Given the description of an element on the screen output the (x, y) to click on. 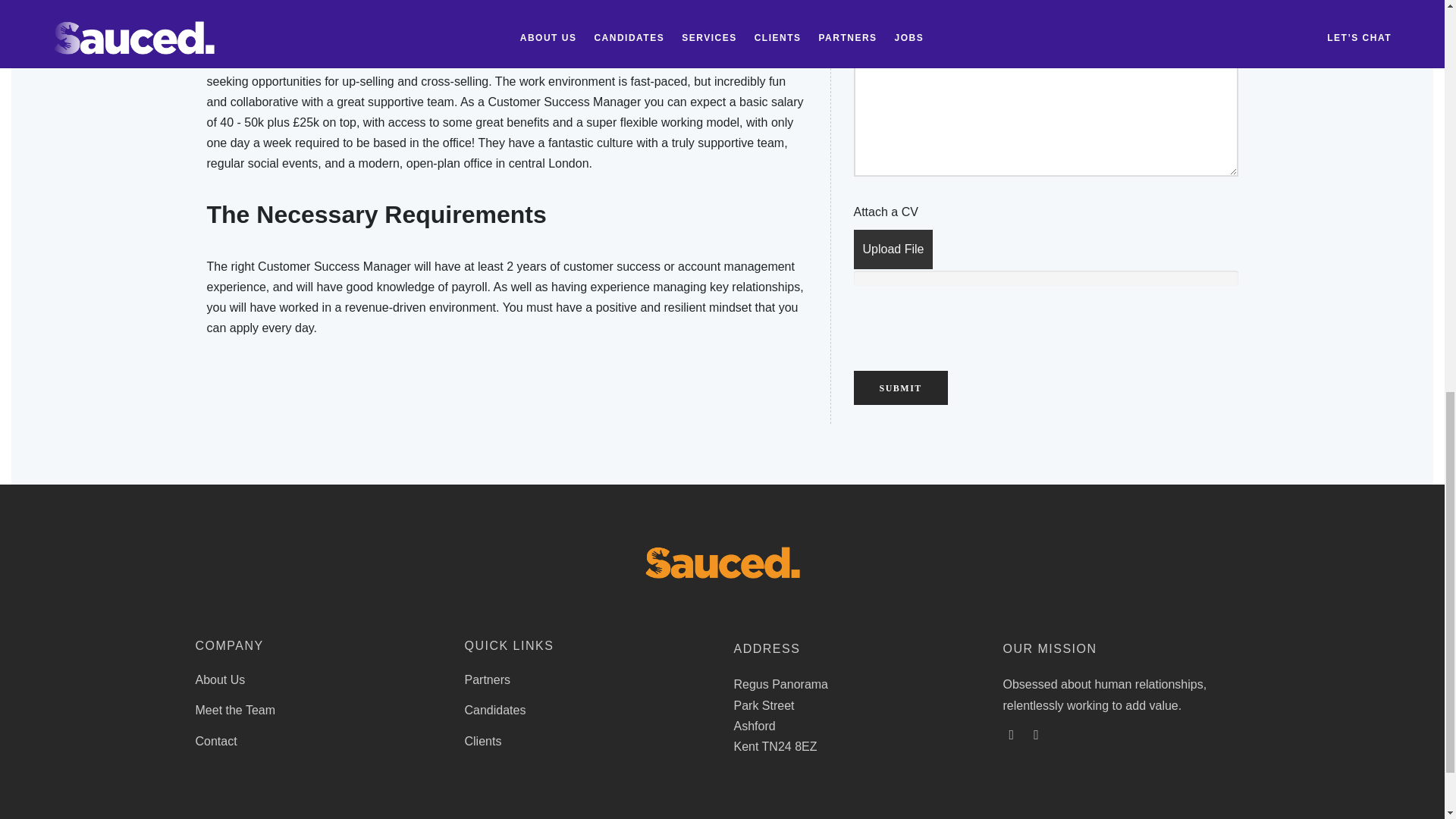
Submit (900, 387)
Scroll To Top (1413, 18)
About Us (220, 679)
Submit (900, 387)
Meet the Team (235, 710)
Partners (486, 679)
Upload File (893, 249)
Clients (482, 740)
Candidates (494, 710)
Contact (216, 740)
